Given the description of an element on the screen output the (x, y) to click on. 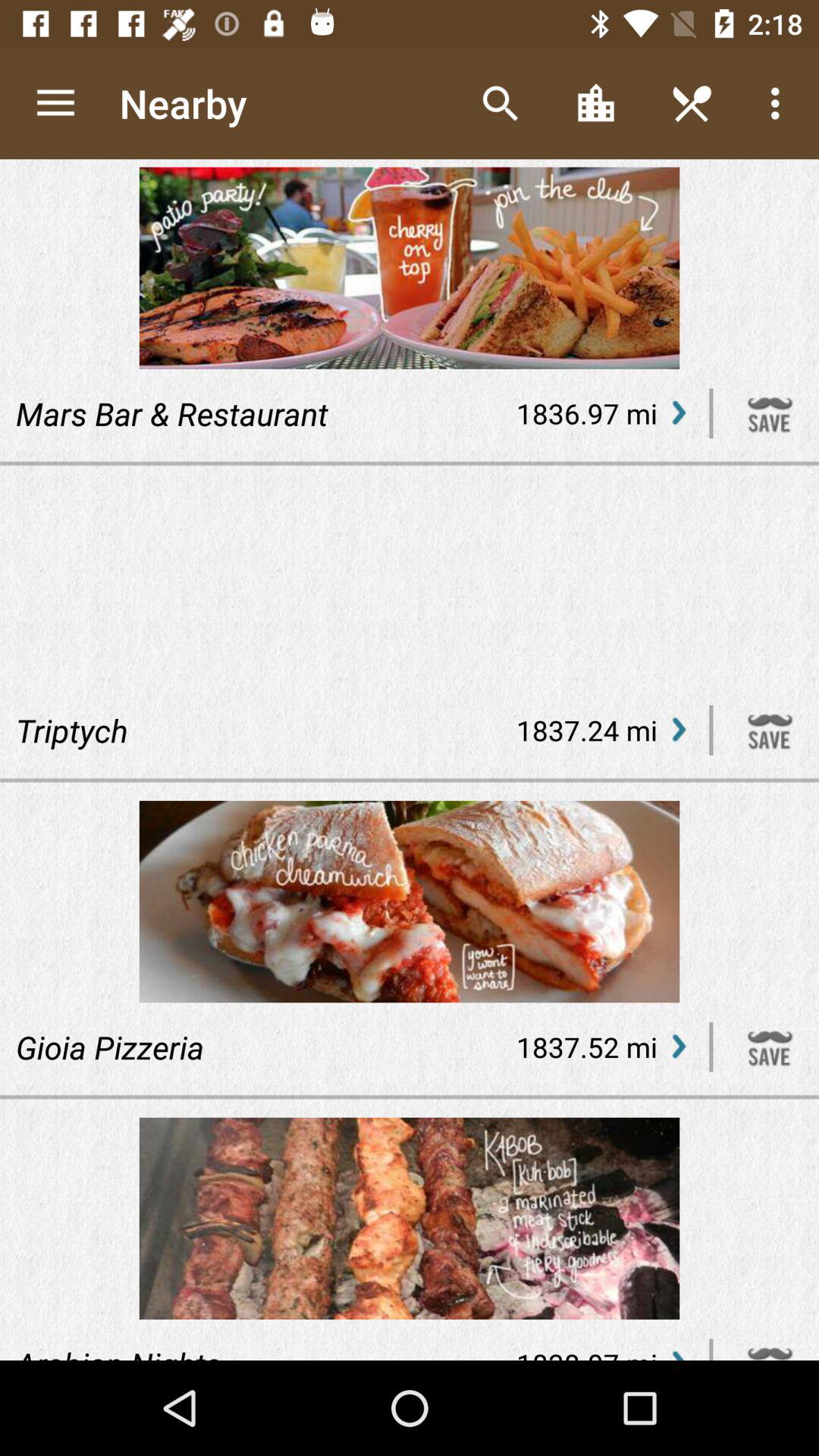
turn off the icon above mars bar & restaurant (55, 103)
